Given the description of an element on the screen output the (x, y) to click on. 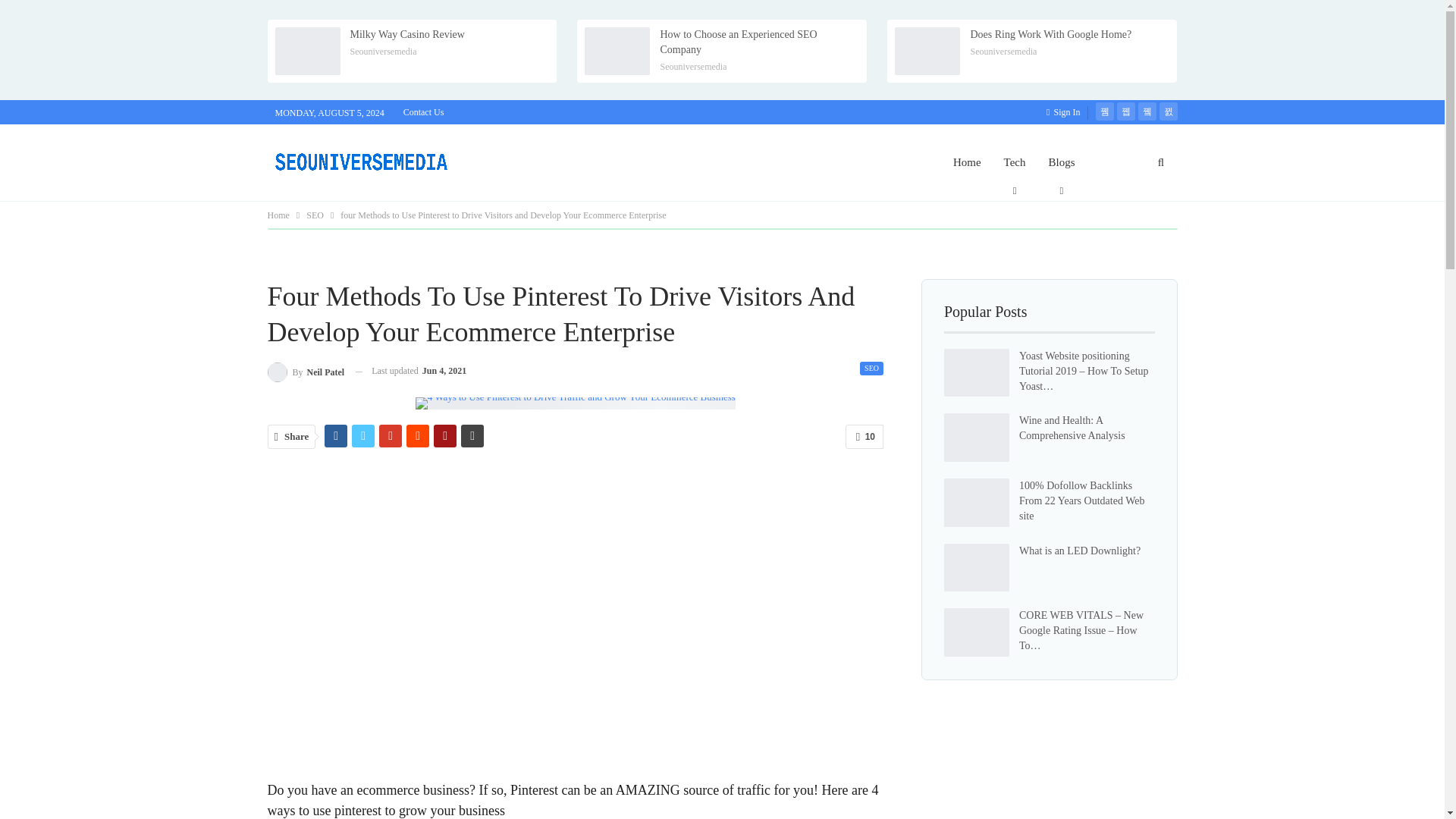
Browse Author Articles (383, 50)
How to Choose an Experienced SEO Company (617, 51)
Seouniversemedia (1002, 50)
Contact Us (423, 112)
Browse Author Articles (304, 371)
Sign In (1066, 111)
Seouniversemedia (383, 50)
Seouniversemedia (692, 66)
How to Choose an Experienced SEO Company (737, 41)
Browse Author Articles (692, 66)
Home (967, 162)
Does Ring Work With Google Home? (1050, 34)
Milky Way Casino Review (307, 51)
Does Ring Work With Google Home? (927, 51)
Browse Author Articles (1002, 50)
